Given the description of an element on the screen output the (x, y) to click on. 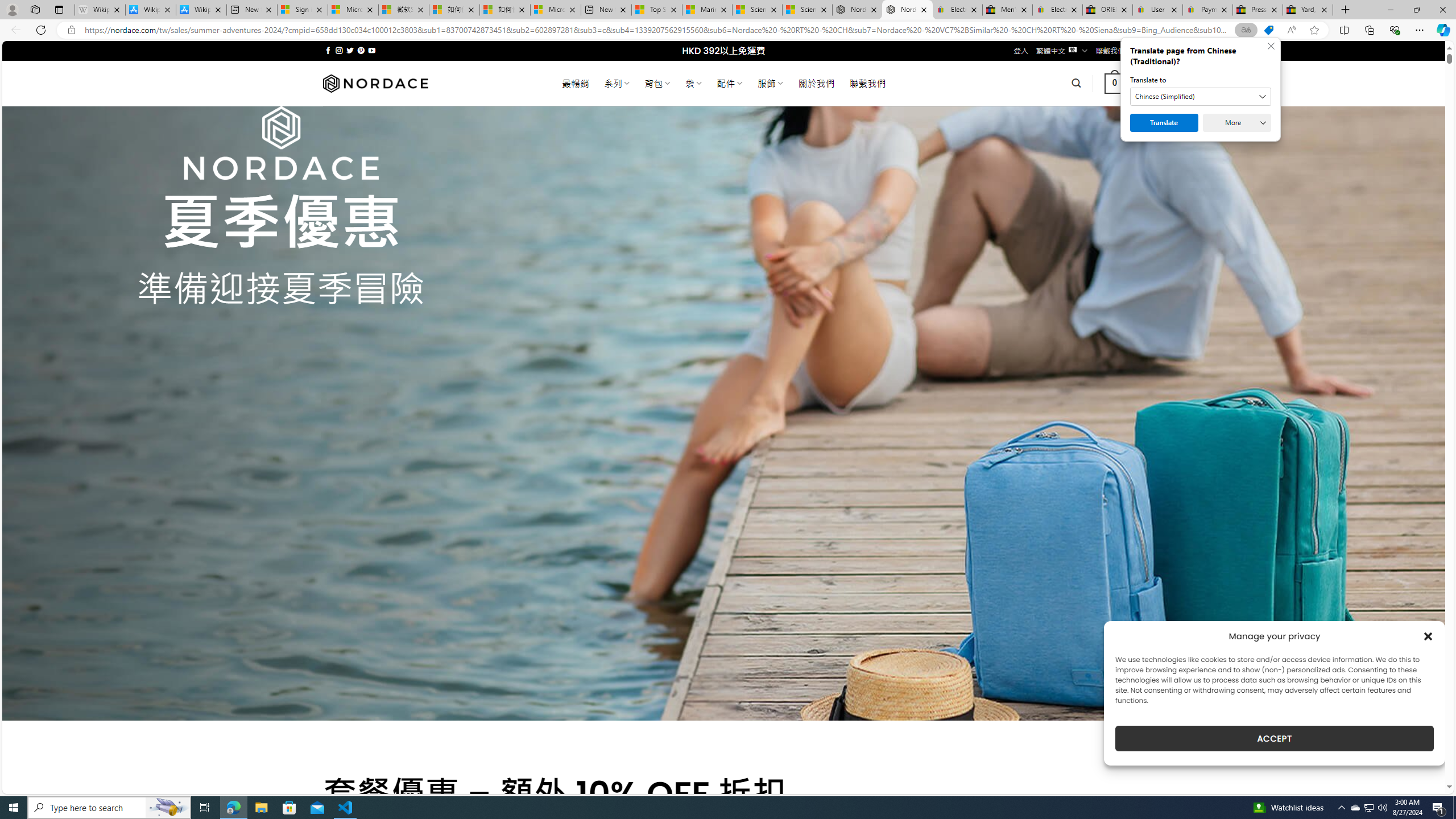
Class: cmplz-close (1428, 636)
 0  (1115, 83)
